Given the description of an element on the screen output the (x, y) to click on. 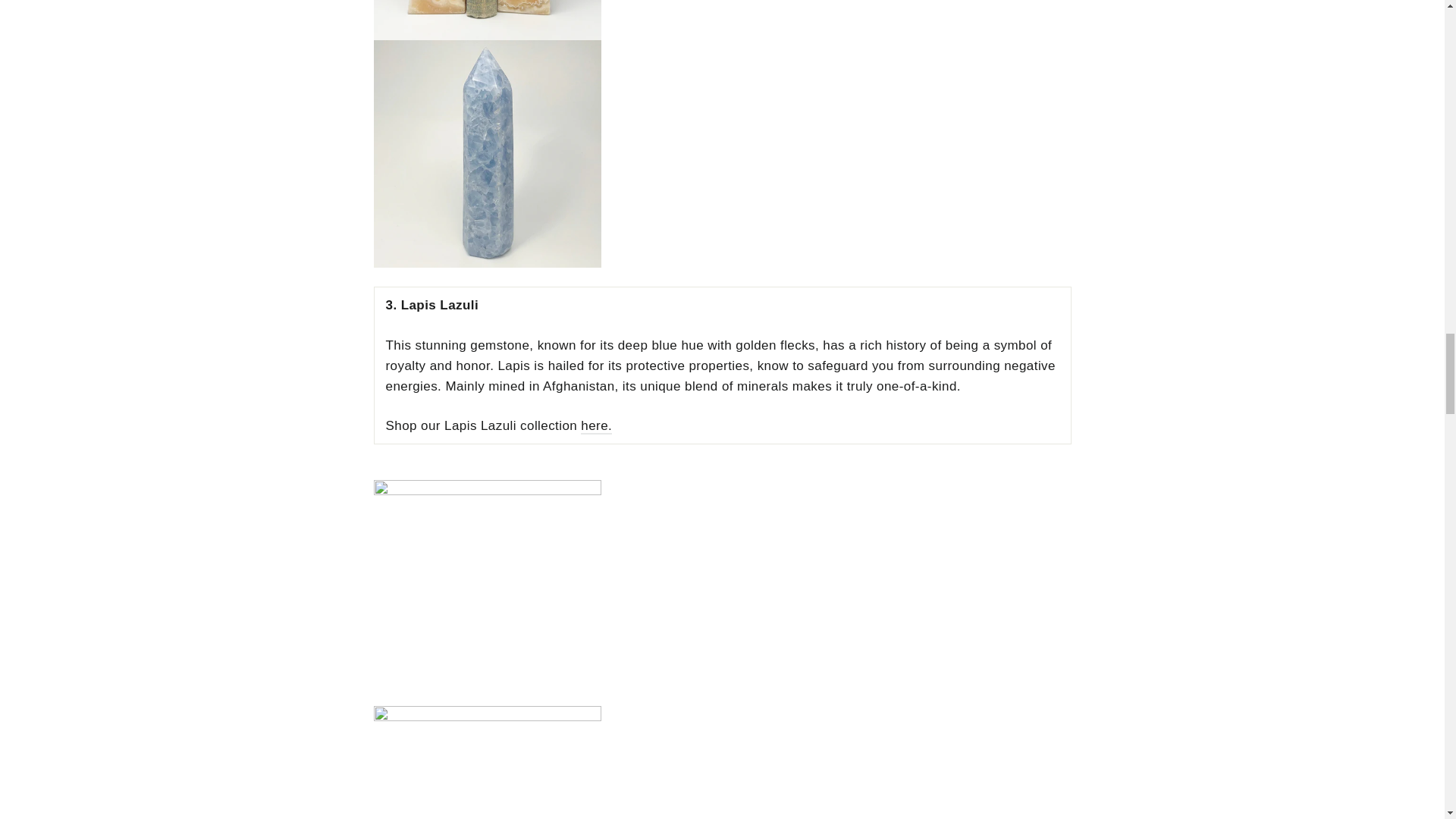
Lapis Lazuli Collection (595, 426)
